Given the description of an element on the screen output the (x, y) to click on. 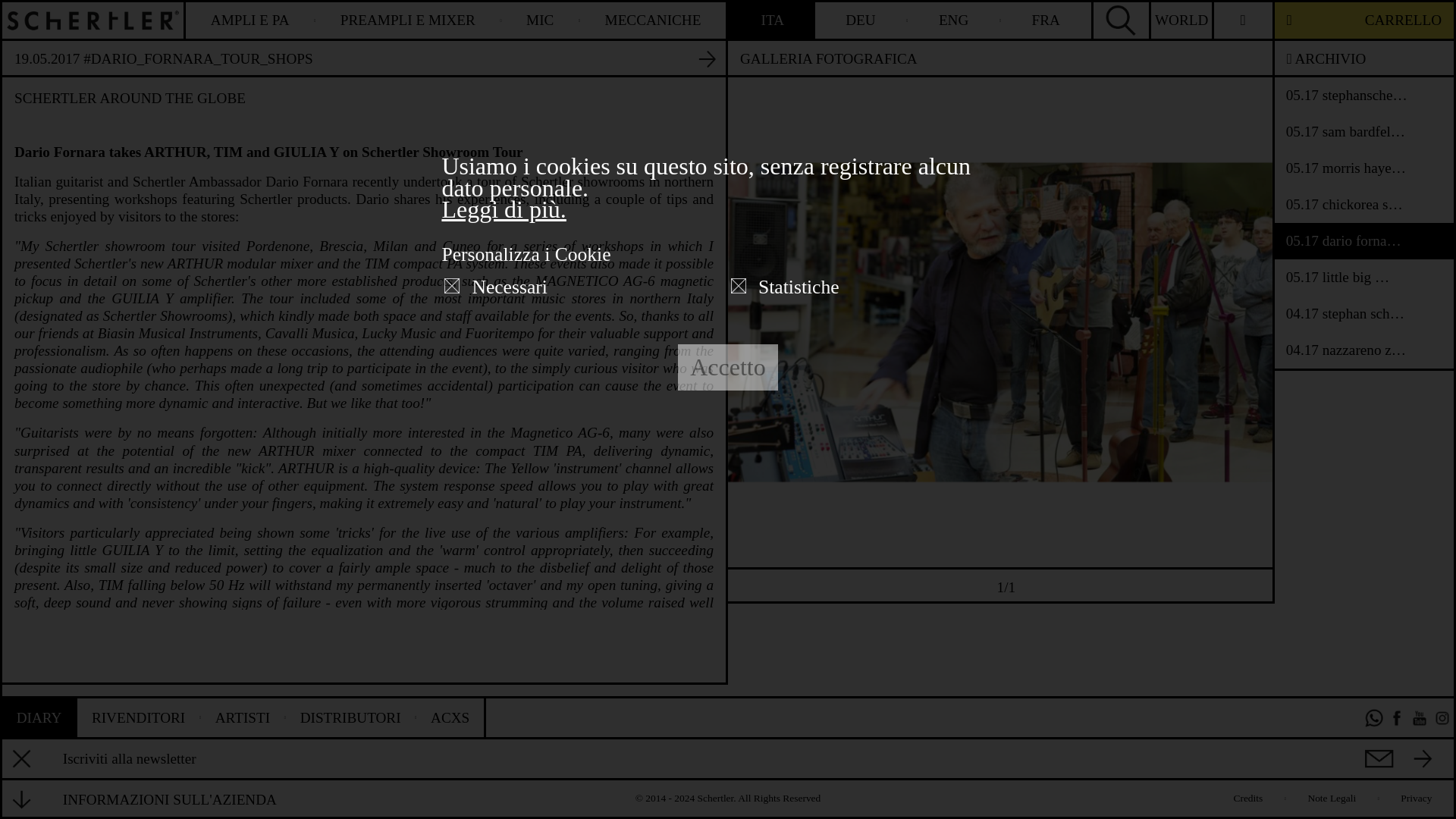
ENG (954, 20)
essential (452, 285)
PREAMPLI E MIXER (407, 20)
MIC (540, 20)
ITA (772, 20)
analytics (737, 285)
CARRELLO (1364, 20)
AMPLI E PA (250, 20)
DEU (861, 20)
FRA (1045, 20)
MECCANICHE (652, 20)
